Given the description of an element on the screen output the (x, y) to click on. 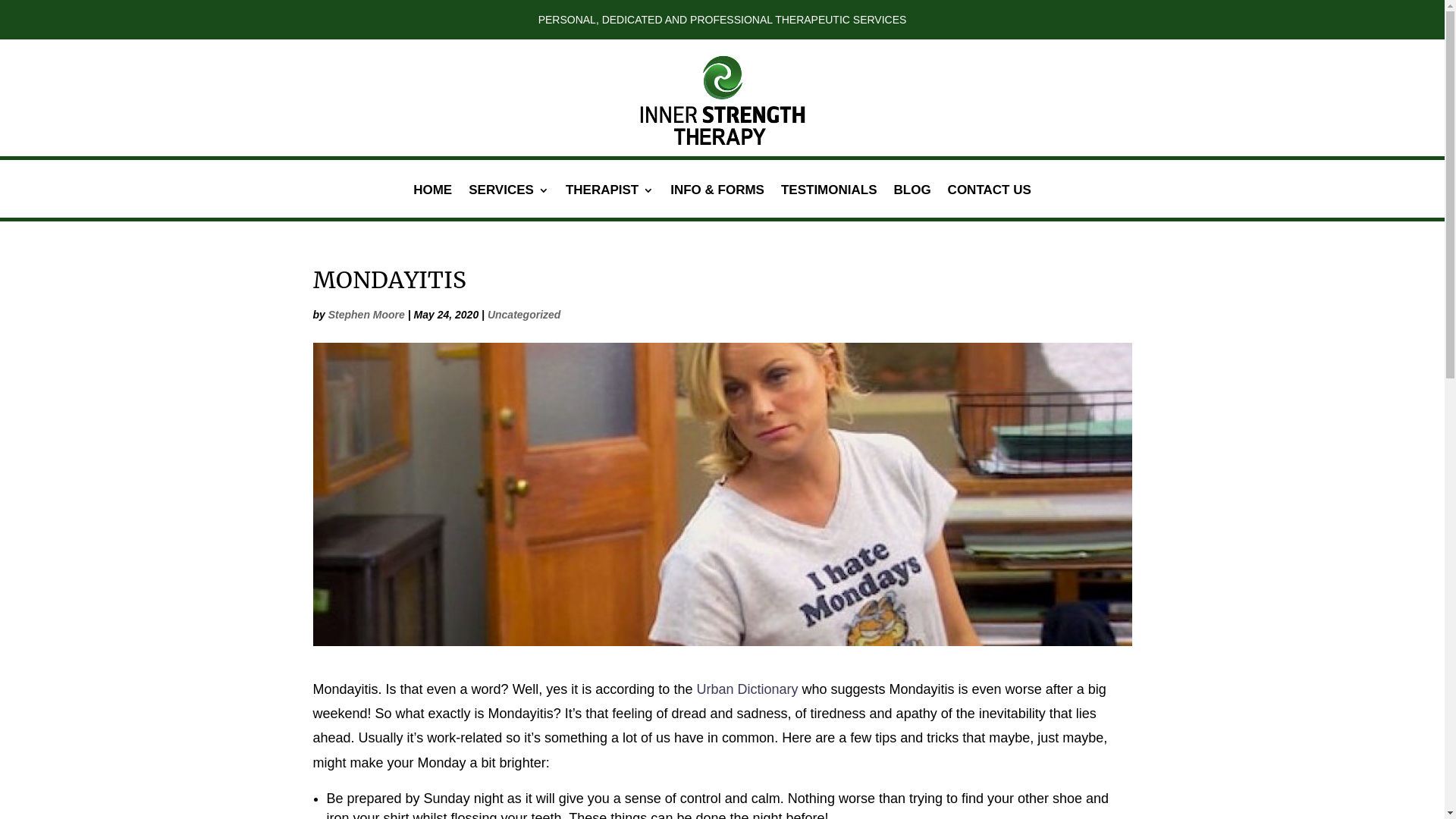
Inner Strength Therapy Logo Element type: hover (722, 91)
Urban Dictionary Element type: text (746, 688)
TESTIMONIALS Element type: text (829, 201)
INFO & FORMS Element type: text (717, 201)
BLOG Element type: text (911, 201)
Uncategorized Element type: text (523, 314)
CONTACT US Element type: text (989, 201)
SERVICES Element type: text (508, 201)
Stephen Moore Element type: text (366, 314)
HOME Element type: text (432, 201)
THERAPIST Element type: text (609, 201)
